Given the description of an element on the screen output the (x, y) to click on. 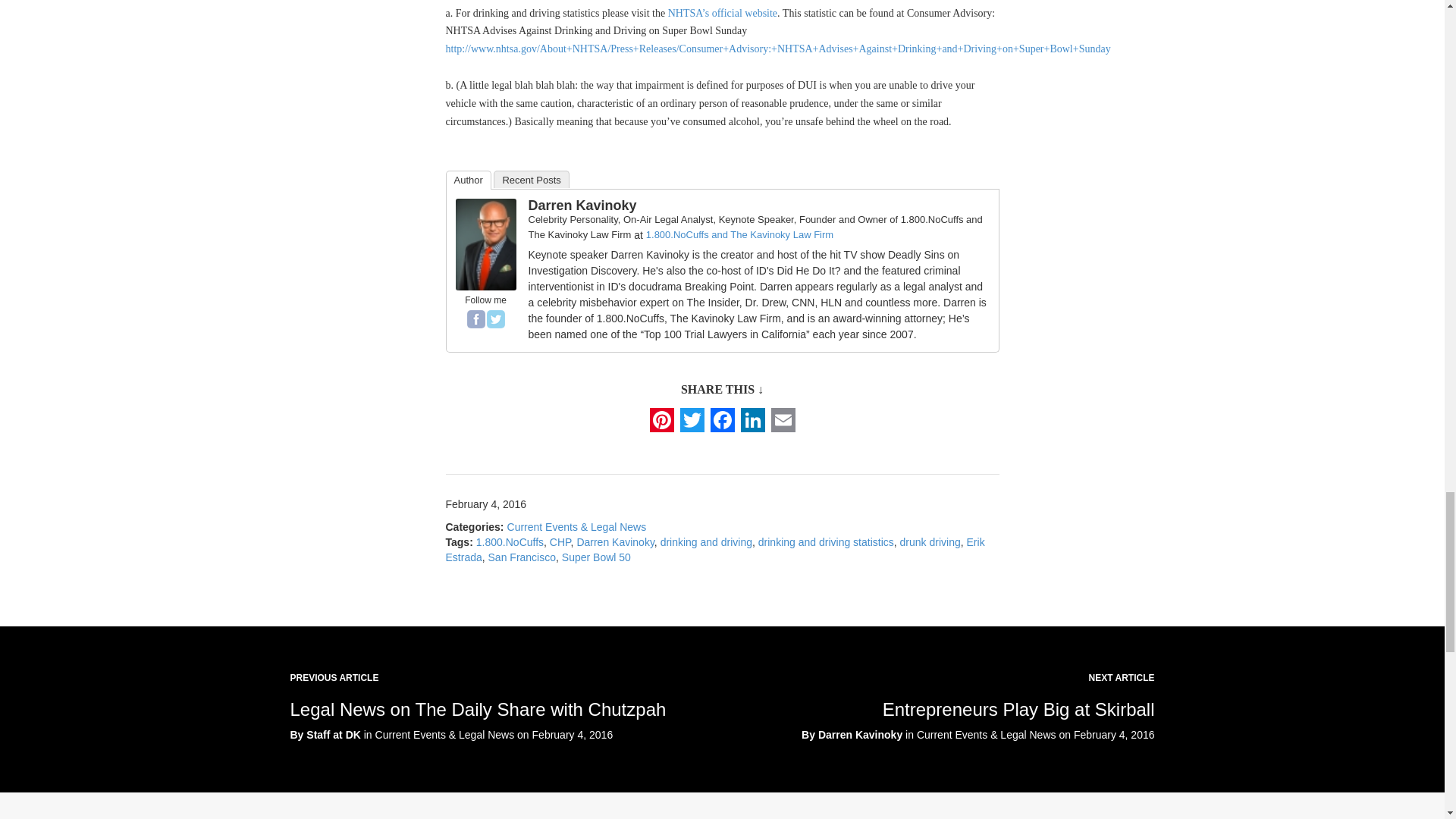
Author (468, 179)
Twitter (495, 319)
1.800.NoCuffs and The Kavinoky Law Firm (739, 234)
Darren Kavinoky (484, 243)
Facebook (475, 319)
Darren Kavinoky (581, 205)
Recent Posts (531, 179)
